Given the description of an element on the screen output the (x, y) to click on. 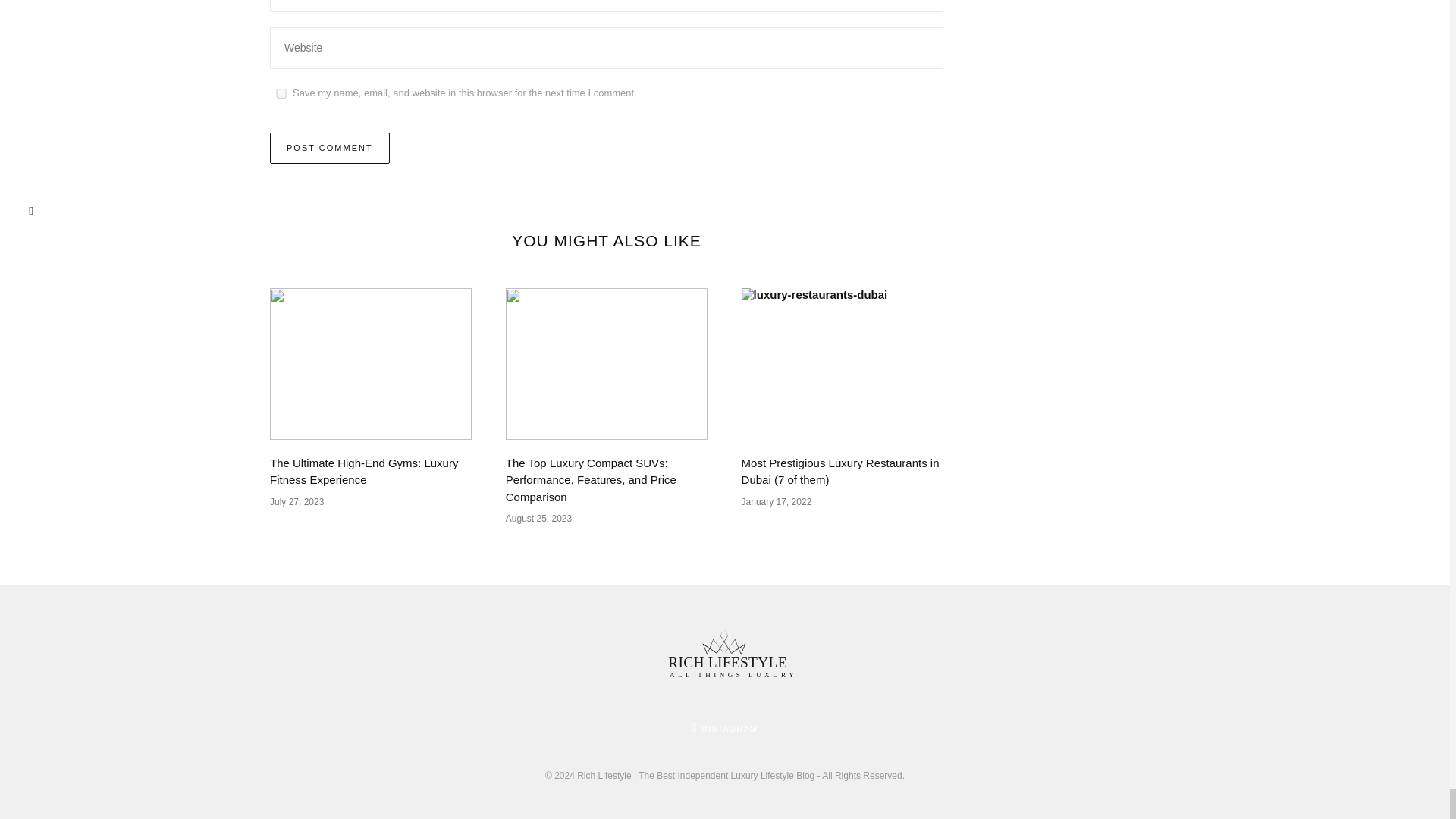
Post Comment (329, 147)
The Ultimate High-End Gyms: Luxury Fitness Experience (363, 471)
Post Comment (329, 147)
yes (280, 93)
